Given the description of an element on the screen output the (x, y) to click on. 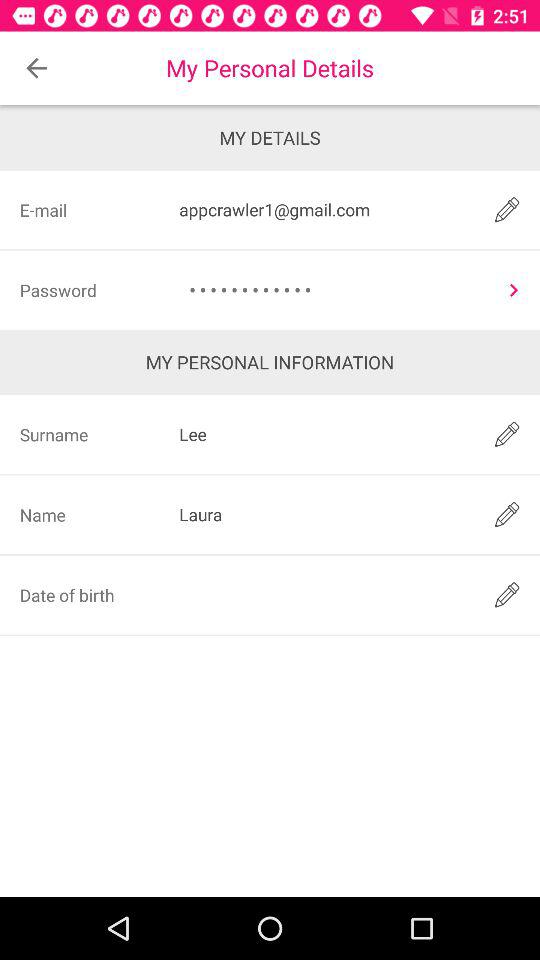
type the password (323, 594)
